Given the description of an element on the screen output the (x, y) to click on. 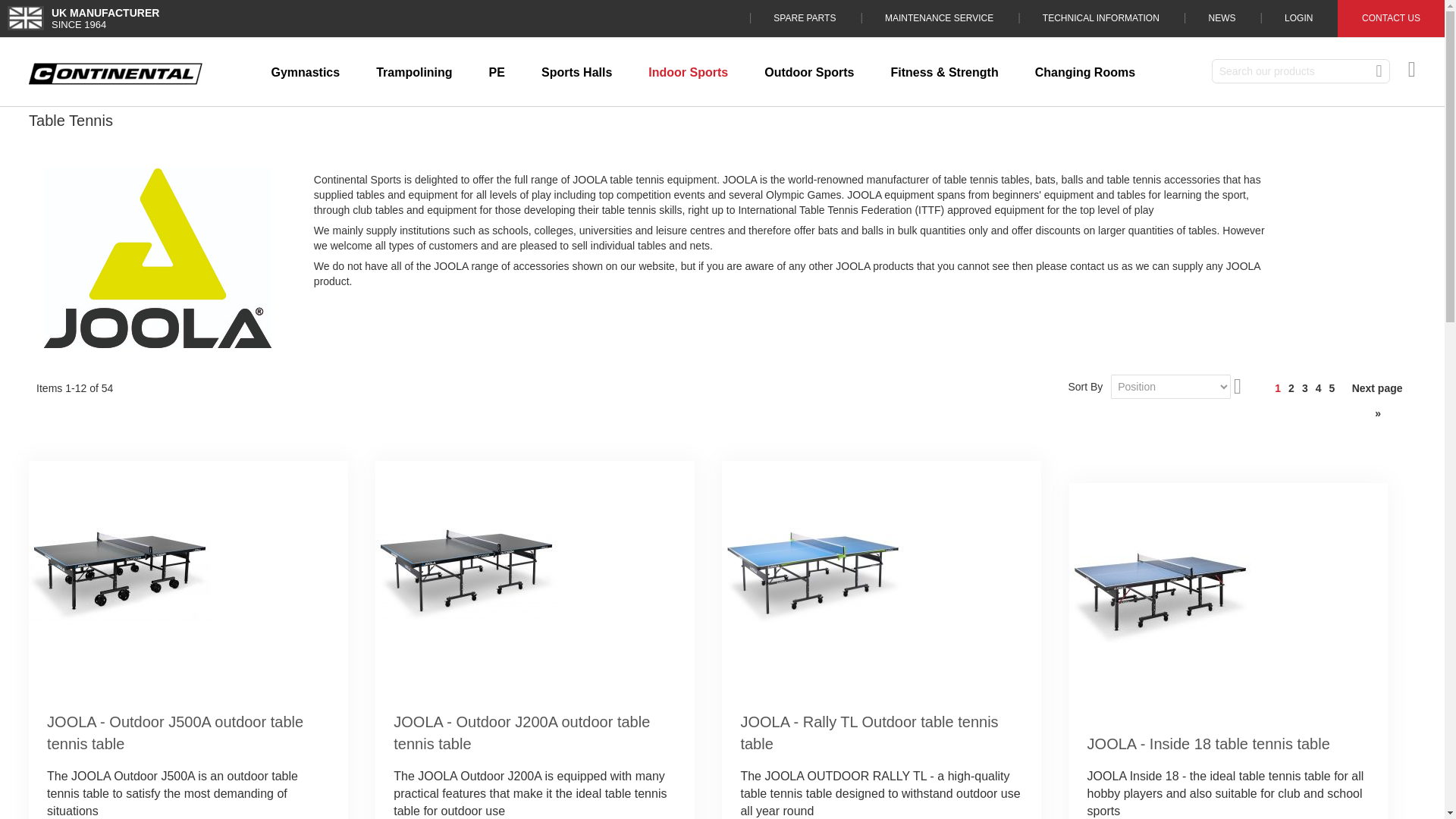
Continental Sports (115, 74)
MAINTENANCE SERVICE (938, 18)
NEWS (1221, 18)
Next (1377, 400)
Technical Information (1100, 18)
LOGIN (1298, 18)
Trampolining (413, 72)
JOOLA table tennis (156, 257)
Gymnastics (305, 72)
TECHNICAL INFORMATION (1100, 18)
News (1221, 18)
SPARE PARTS (804, 18)
